Given the description of an element on the screen output the (x, y) to click on. 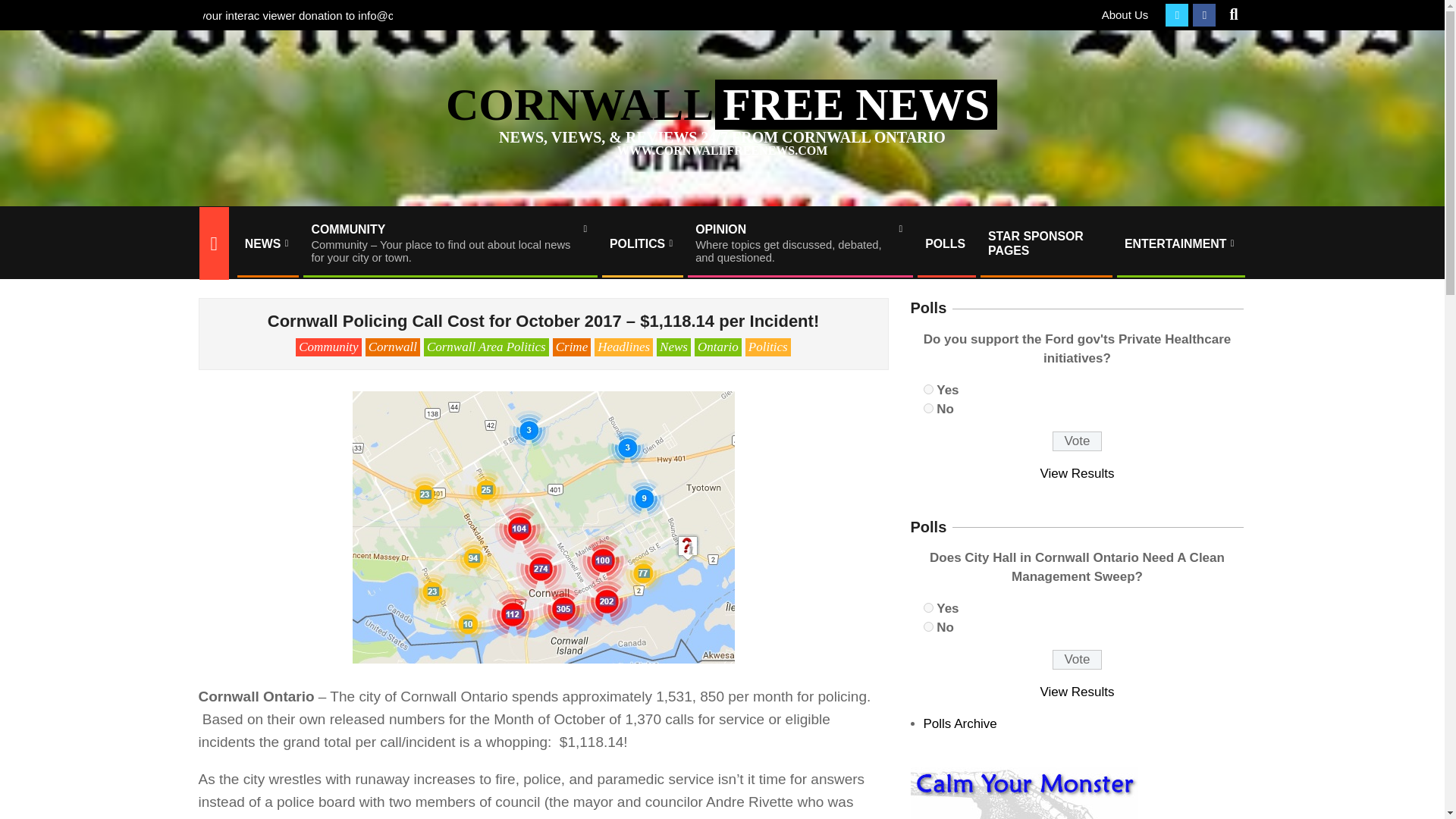
POLITICS (641, 243)
POLLS (945, 243)
1776 (928, 388)
NEWS (265, 243)
Search (24, 9)
View Results Of This Poll (1078, 473)
ENTERTAINMENT (1179, 243)
View Results Of This Poll (1078, 691)
1771 (928, 626)
About Us (1125, 14)
   Vote    (799, 243)
1770 (1076, 441)
   Vote    (928, 607)
STAR SPONSOR PAGES (1076, 659)
